Given the description of an element on the screen output the (x, y) to click on. 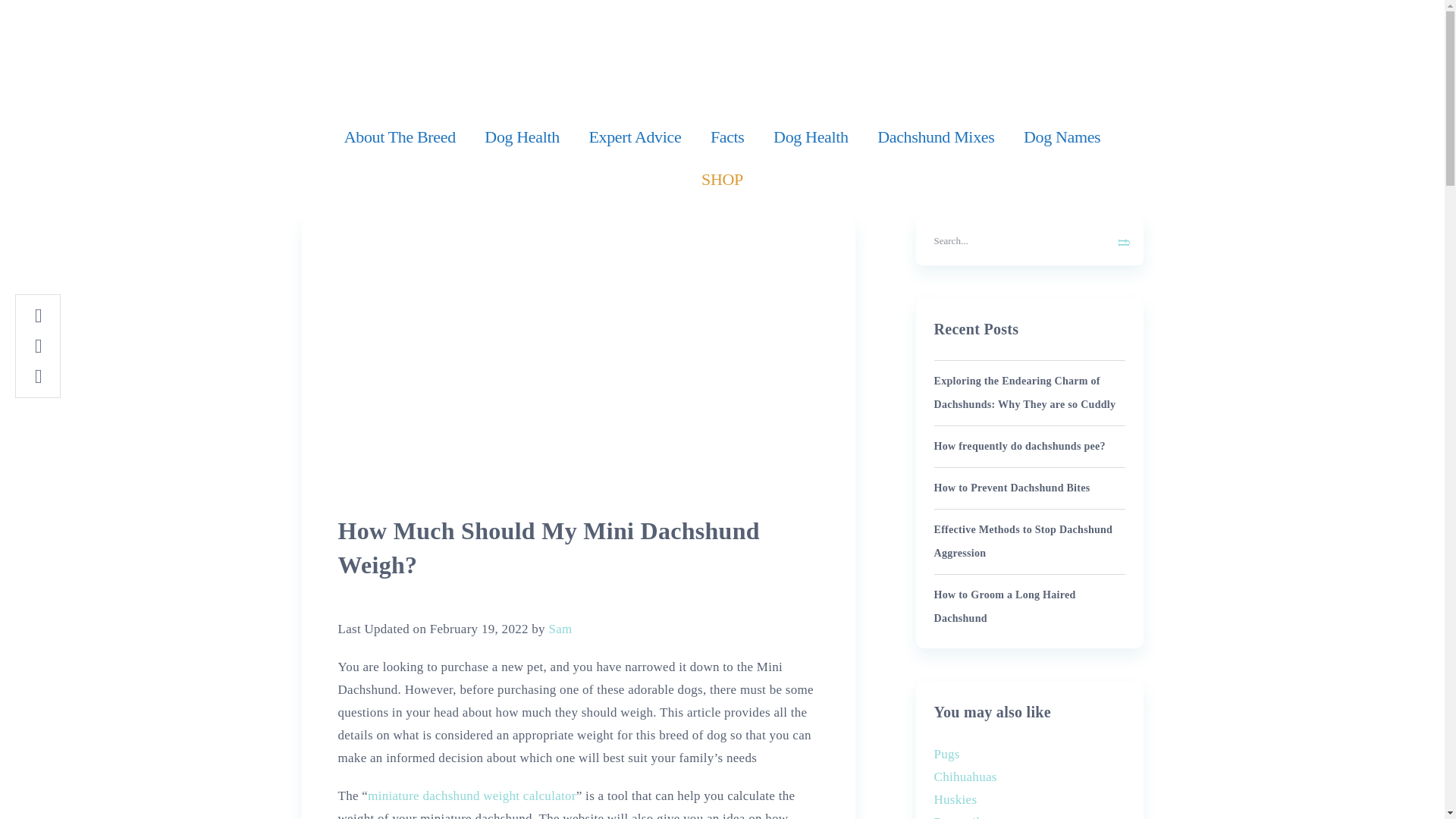
Dog Health (810, 136)
Facts (727, 136)
How frequently do dachshunds pee? (1019, 446)
Dog Health (521, 136)
Expert Advice (634, 136)
miniature dachshund weight calculator (472, 795)
Dog Names (1061, 136)
Dachshund Mixes (935, 136)
SHOP (721, 179)
Sam (560, 628)
About The Breed (399, 136)
